Given the description of an element on the screen output the (x, y) to click on. 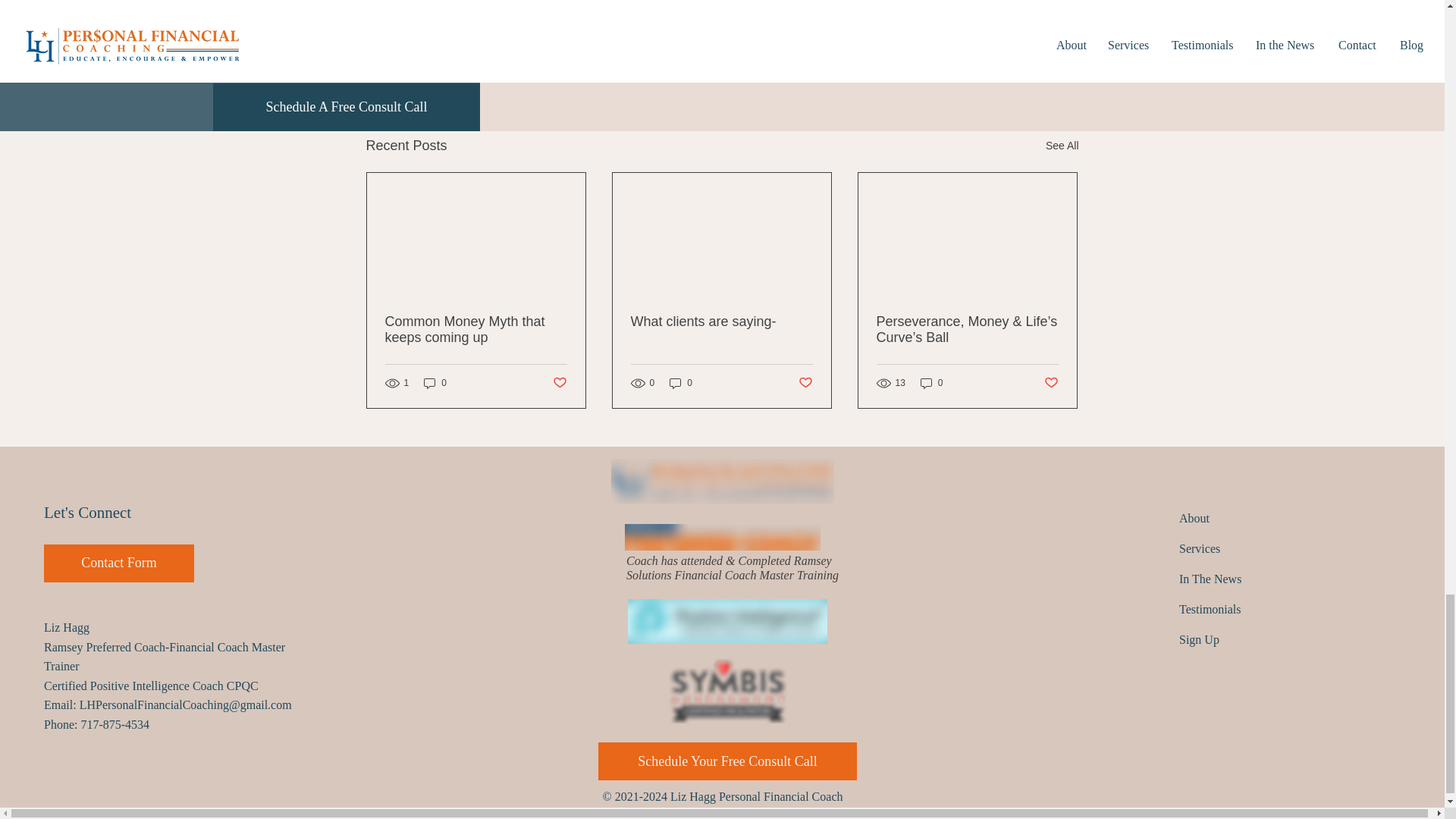
0 (931, 382)
Sign Up (1199, 639)
What clients are saying- (721, 321)
Post not marked as liked (995, 63)
Post not marked as liked (1050, 382)
Testimonials (1210, 608)
In The News (1210, 578)
Contact Form (118, 563)
Post not marked as liked (804, 382)
See All (1061, 146)
About (1194, 517)
Schedule Your Free Consult Call (727, 761)
717-875-4534 (114, 724)
0 (435, 382)
Services (1199, 548)
